Given the description of an element on the screen output the (x, y) to click on. 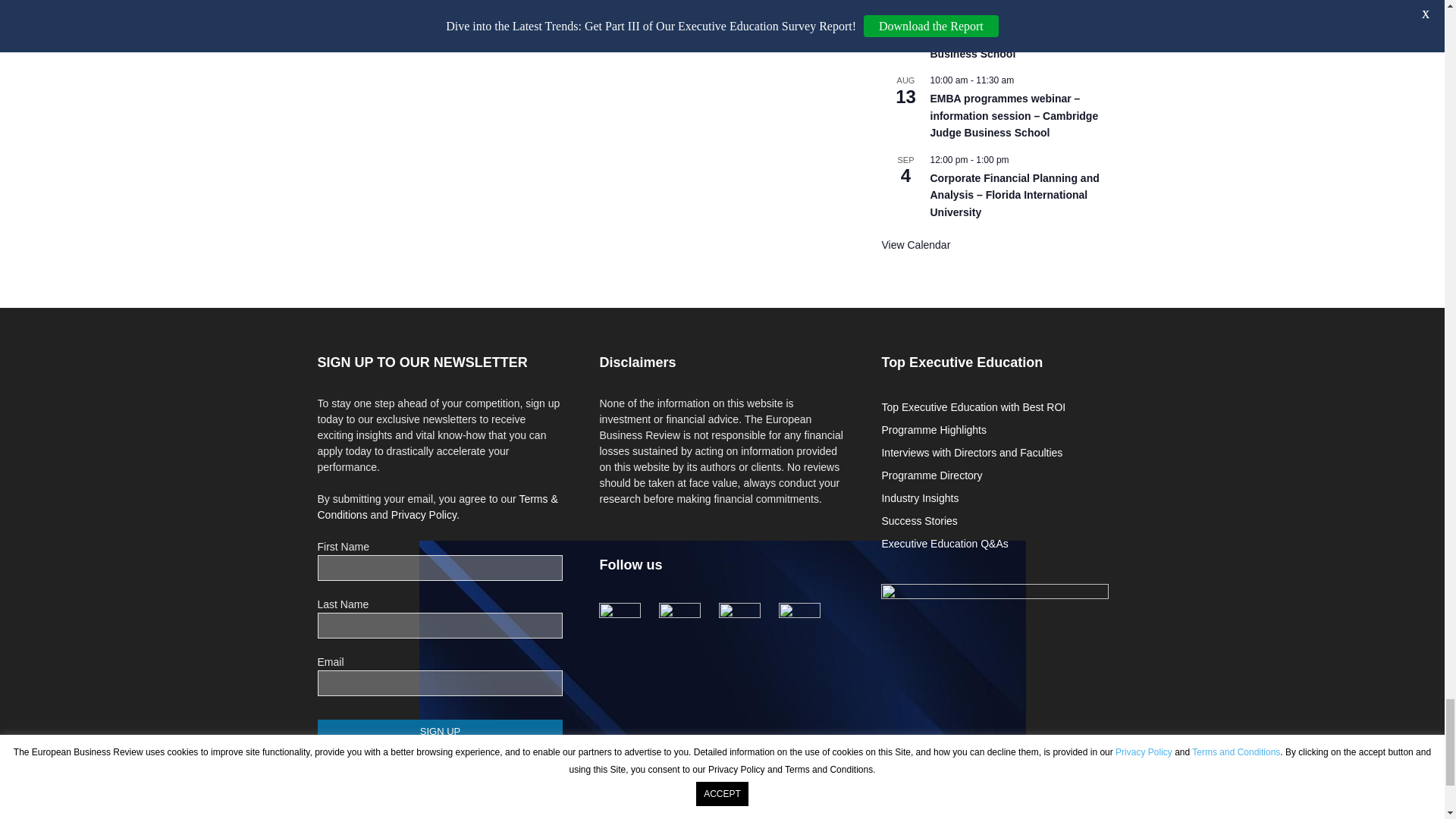
SIGN UP (439, 730)
